Given the description of an element on the screen output the (x, y) to click on. 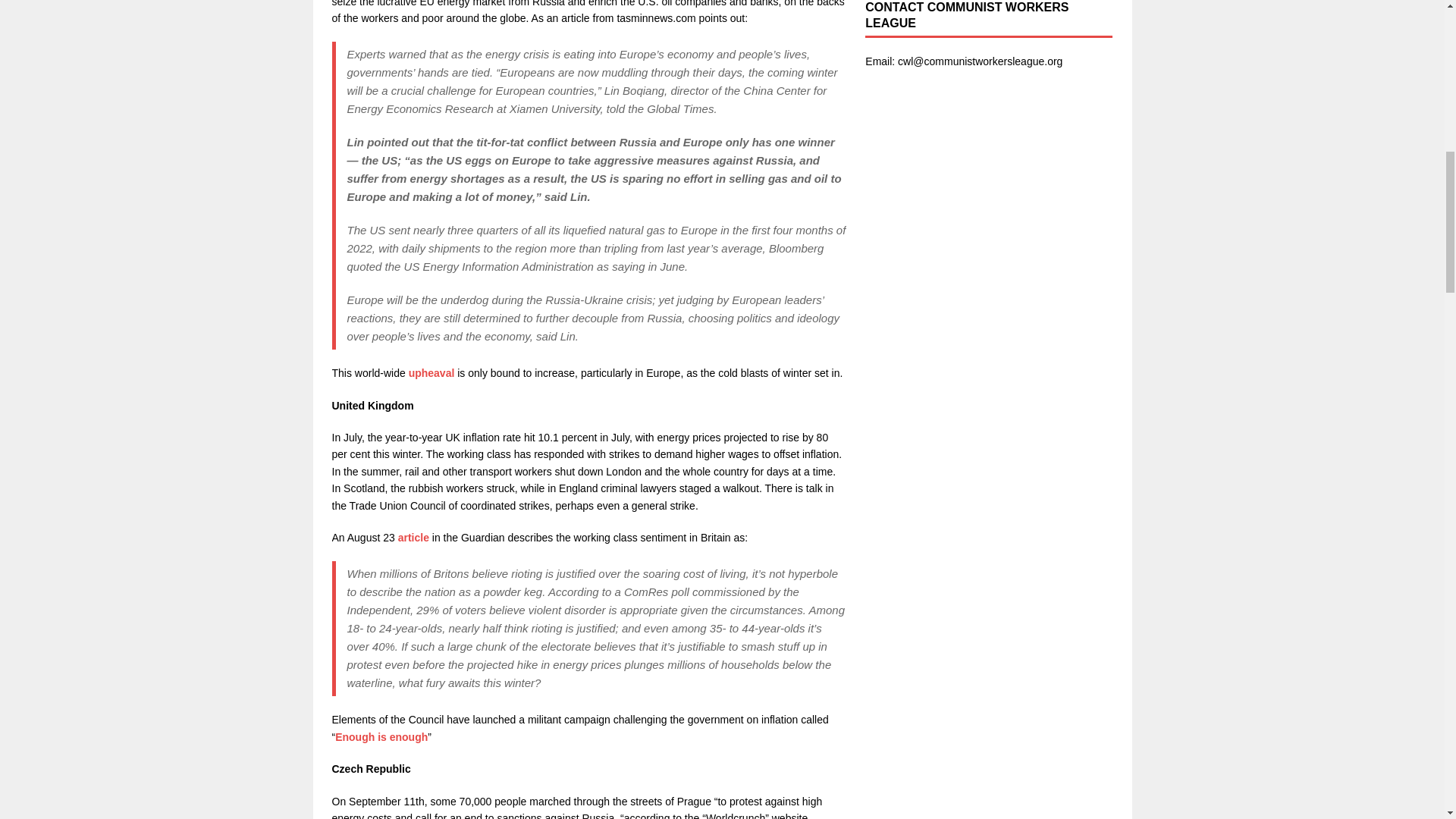
upheaval (431, 372)
Enough is enough (381, 736)
article (411, 537)
